Given the description of an element on the screen output the (x, y) to click on. 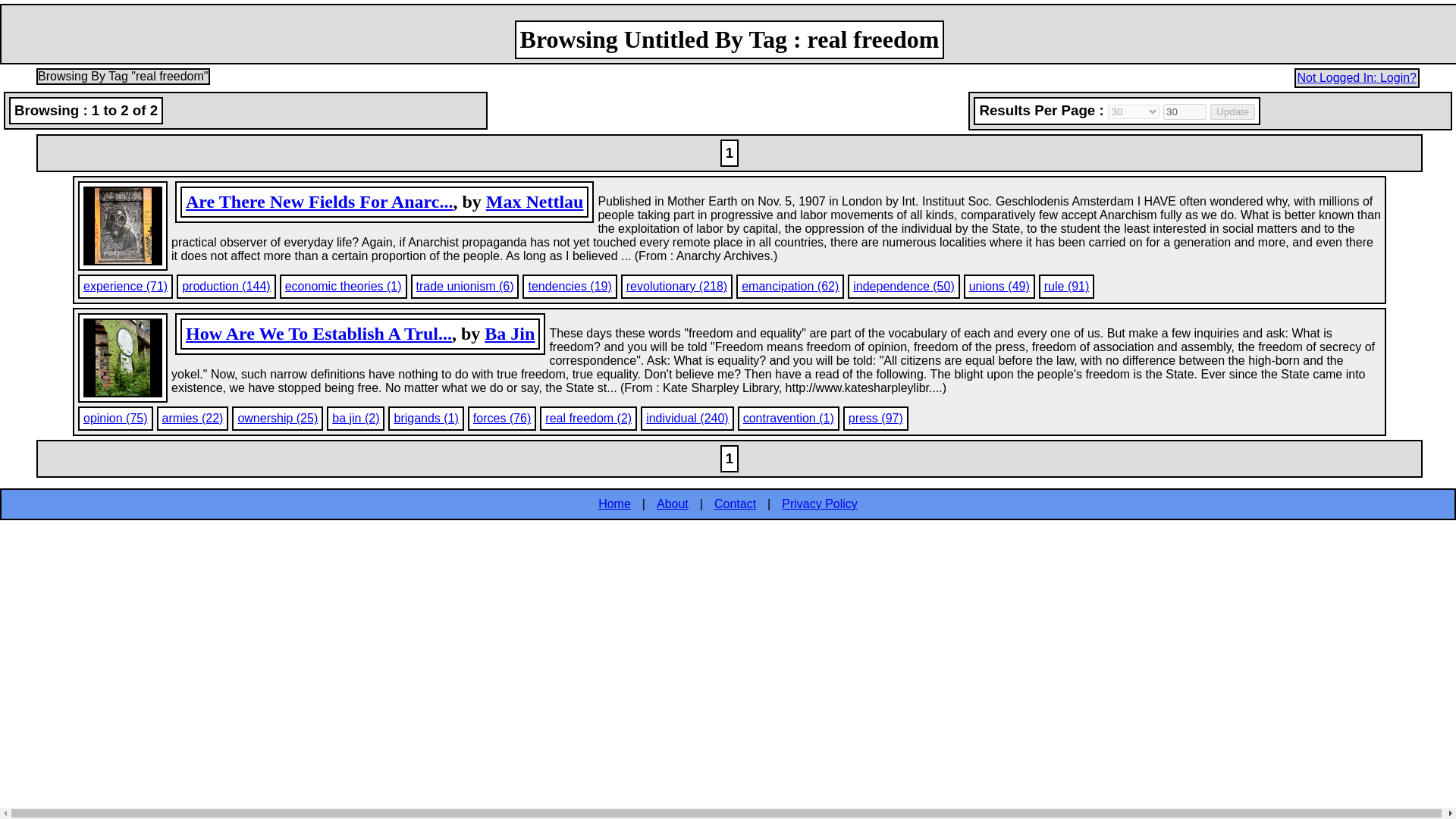
How Are We To Establish A Trul... (318, 333)
Update (1232, 111)
Navigate to another page of results by using these links. (729, 458)
Adjust results per page here. (1209, 110)
Contact (734, 503)
0 Items Viewed, 0 Remaining to Be Viewed (245, 110)
Navigate to another page of results by using these links. (729, 152)
About (672, 503)
Not Logged In: Login? (1356, 77)
30 (1185, 111)
Are There New Fields For Anarchist Activity? (319, 201)
Are There New Fields For Anarc... (319, 201)
Ba Jin (509, 333)
Privacy Policy (819, 503)
